Given the description of an element on the screen output the (x, y) to click on. 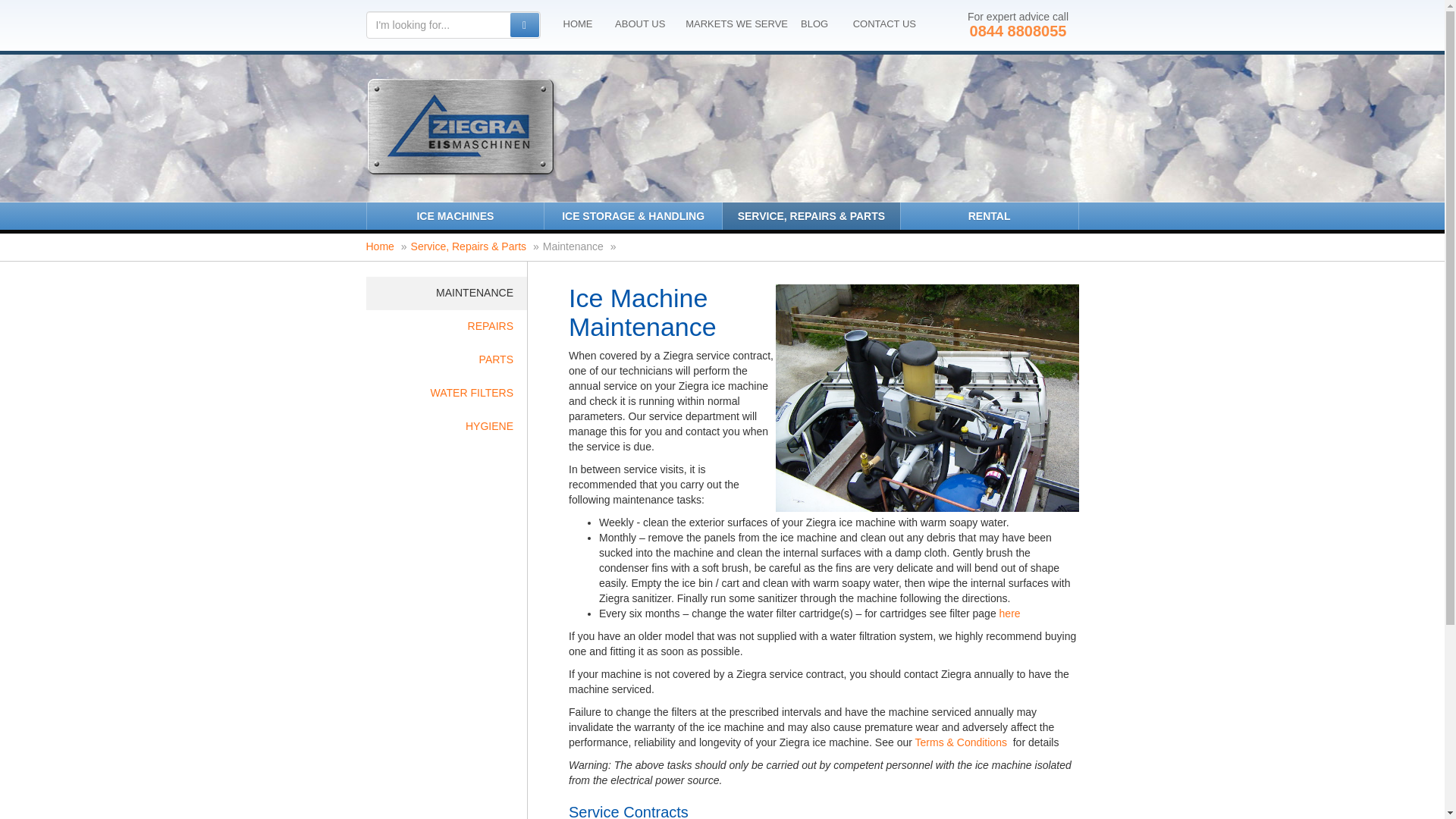
CONTACT US (884, 24)
ICE MACHINES (455, 216)
MARKETS WE SERVE (736, 24)
BLOG (814, 24)
ABOUT US (639, 24)
HOME (577, 24)
